Given the description of an element on the screen output the (x, y) to click on. 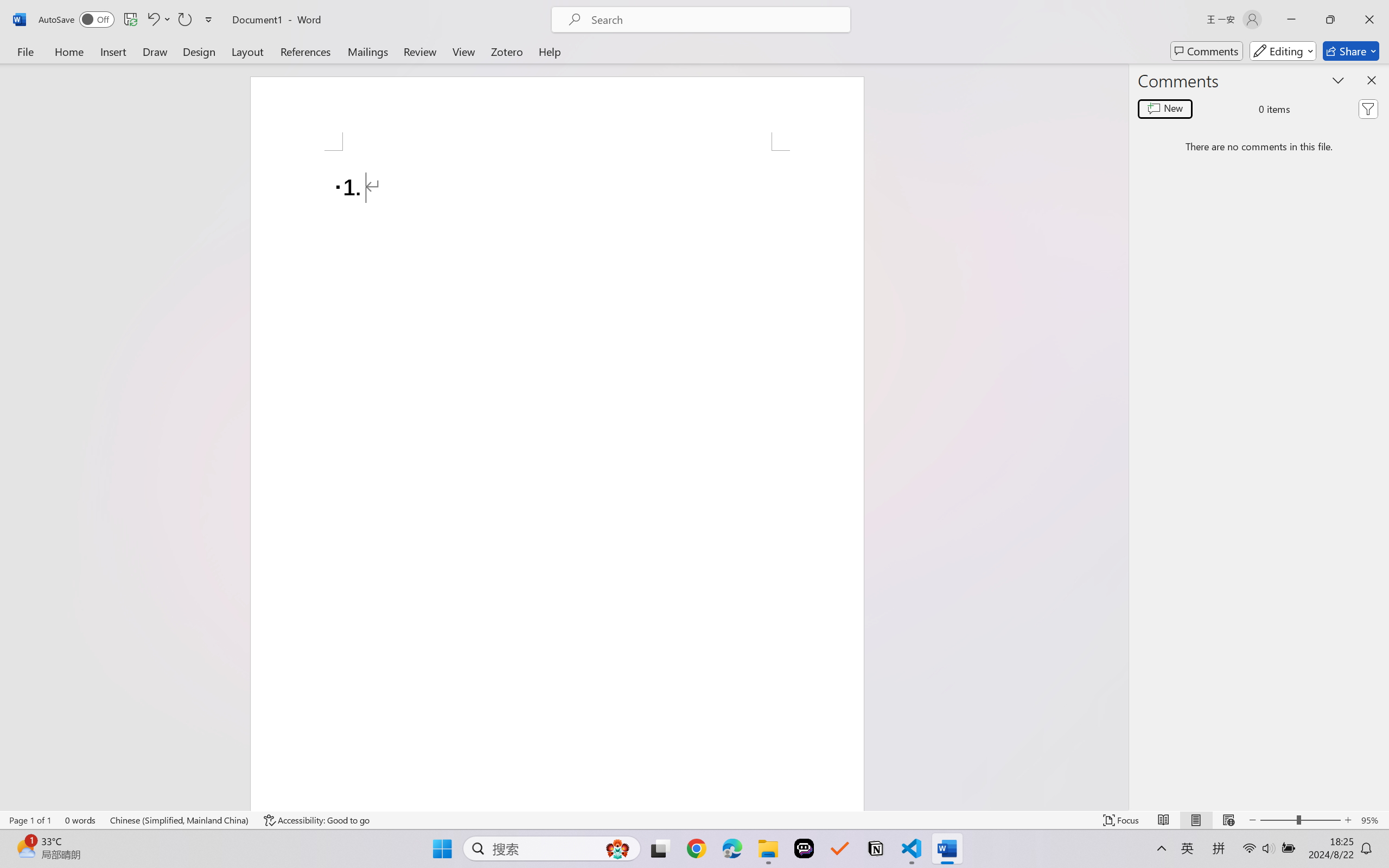
Filter (1367, 108)
